Given the description of an element on the screen output the (x, y) to click on. 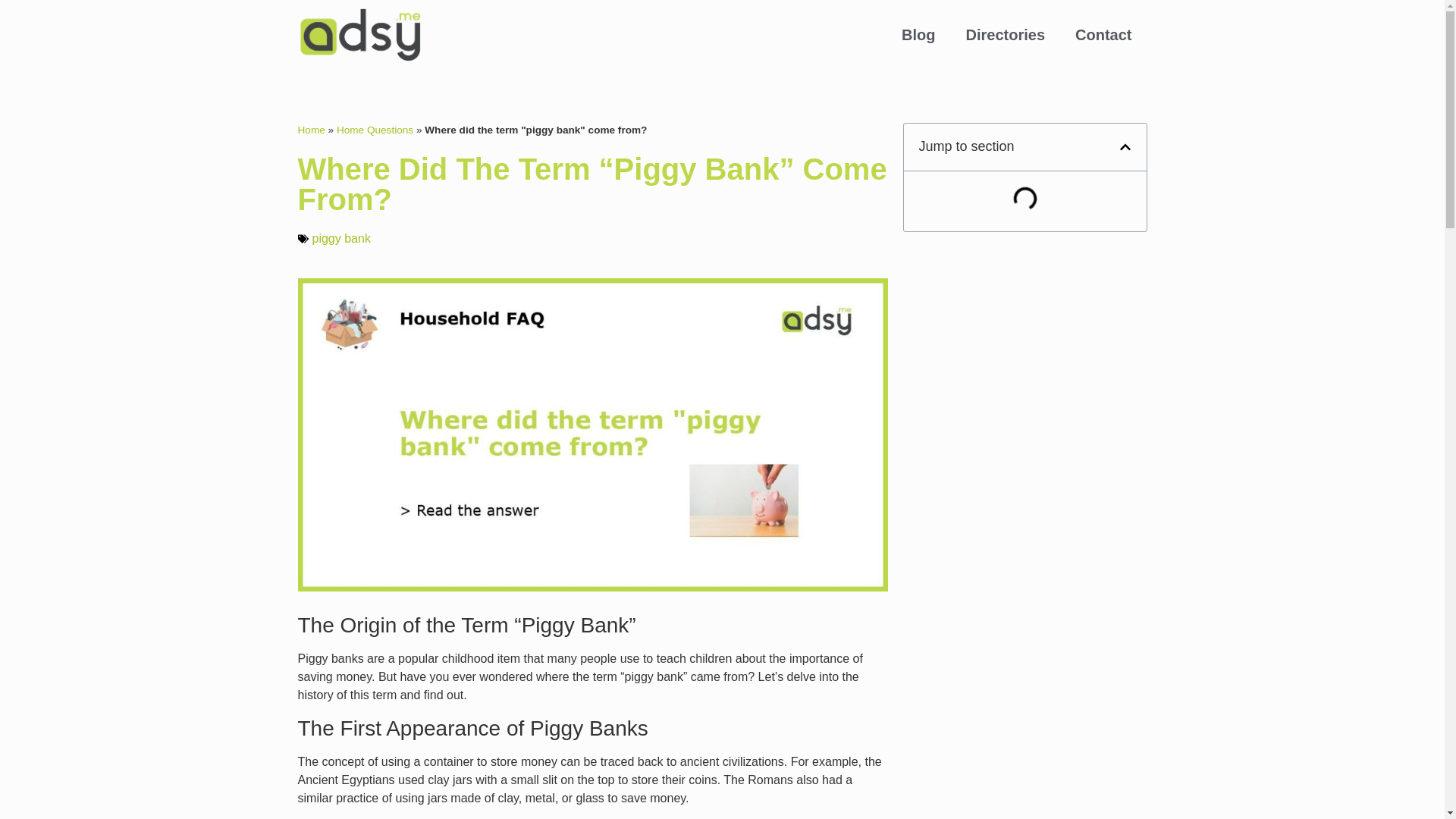
Contact (1103, 34)
Directories (1005, 34)
Blog (918, 34)
